Given the description of an element on the screen output the (x, y) to click on. 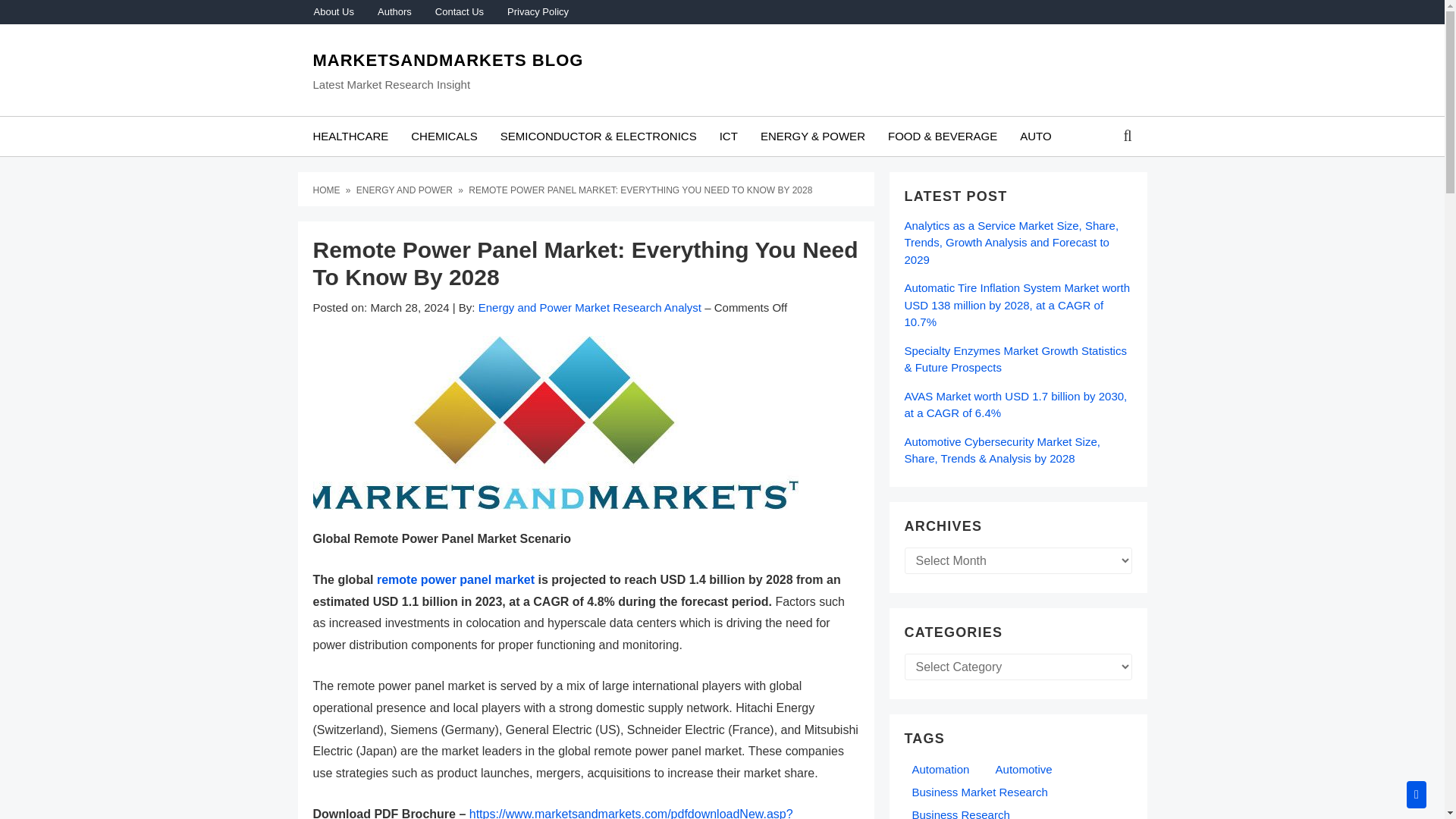
MARKETSANDMARKETS BLOG (448, 60)
Energy and Power (405, 190)
AUTO (1035, 136)
HOME (327, 190)
Contact Us (459, 12)
About Us (333, 12)
HEALTHCARE (350, 136)
Privacy Policy (537, 12)
CHEMICALS (443, 136)
ENERGY AND POWER (405, 190)
